Given the description of an element on the screen output the (x, y) to click on. 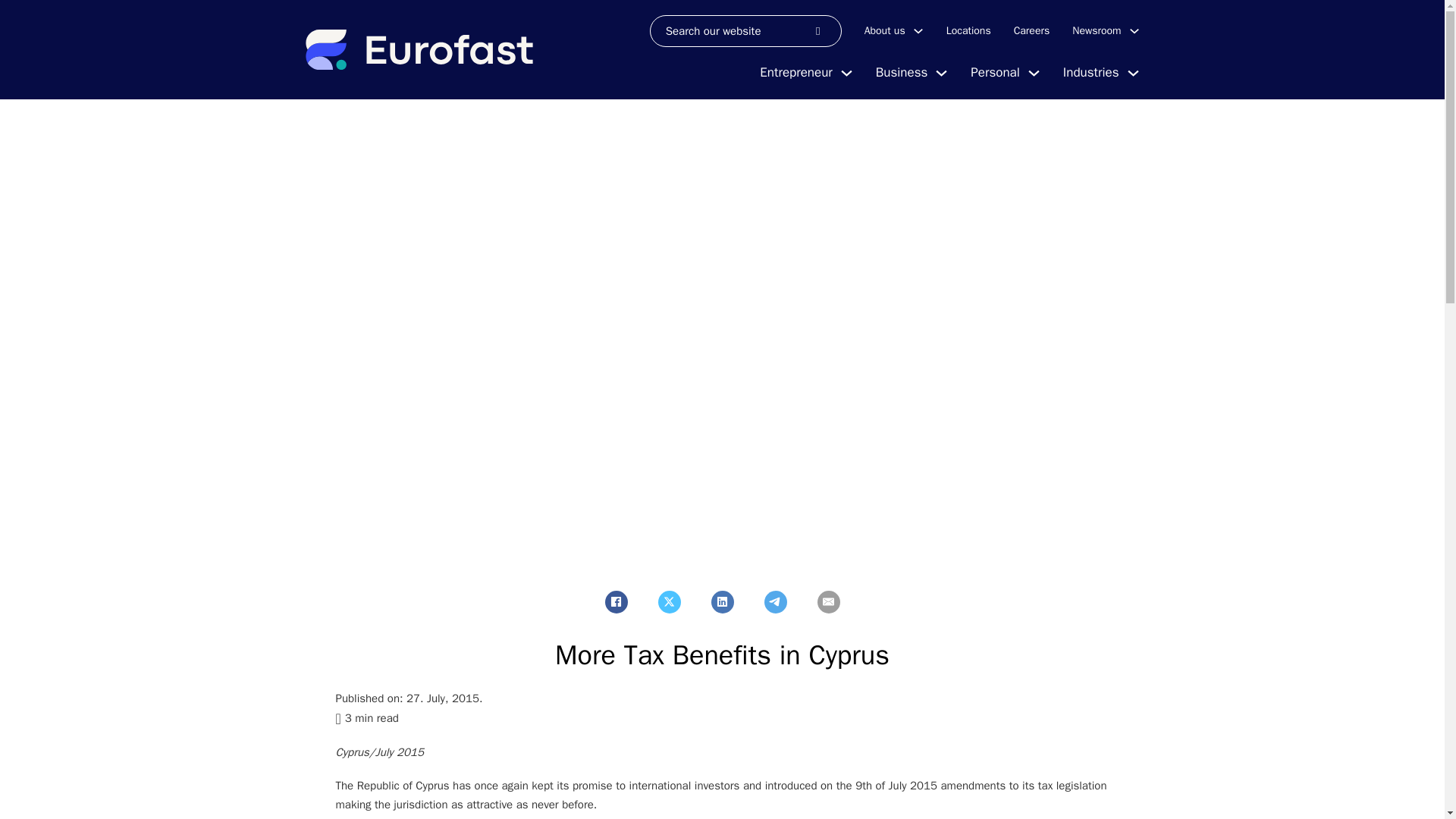
Careers (1031, 31)
Locations (968, 31)
Newsroom (1096, 31)
Entrepreneur (795, 73)
About us (884, 31)
